Given the description of an element on the screen output the (x, y) to click on. 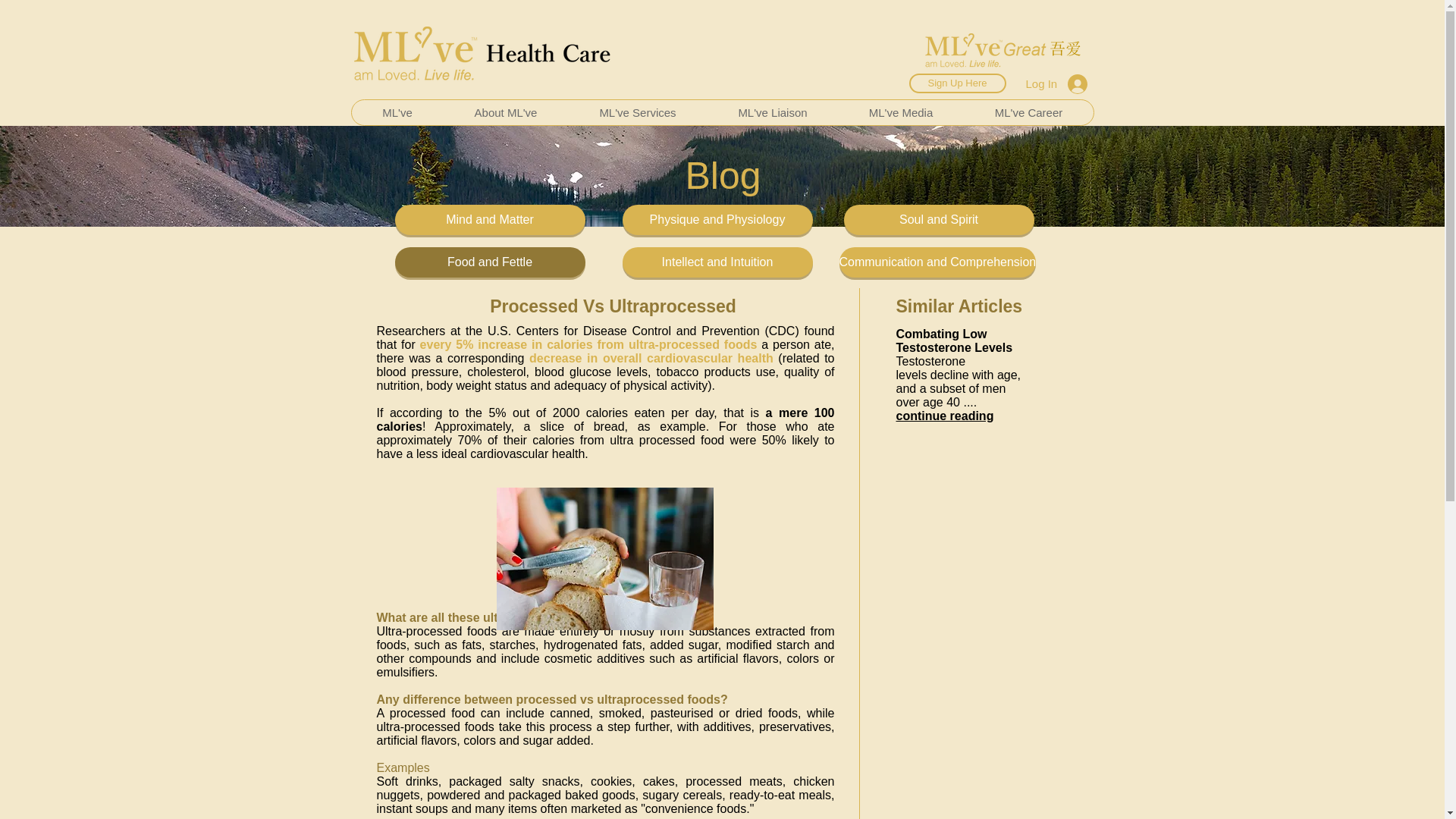
Intellect and Intuition (716, 262)
Communication and Comprehension (936, 262)
Mind and Matter (489, 219)
Sign Up Here (957, 83)
Log In (1055, 83)
Blog (722, 175)
Food and Fettle (489, 262)
Physique and Physiology (716, 219)
ML've (398, 112)
Soul and Spirit (938, 219)
